Given the description of an element on the screen output the (x, y) to click on. 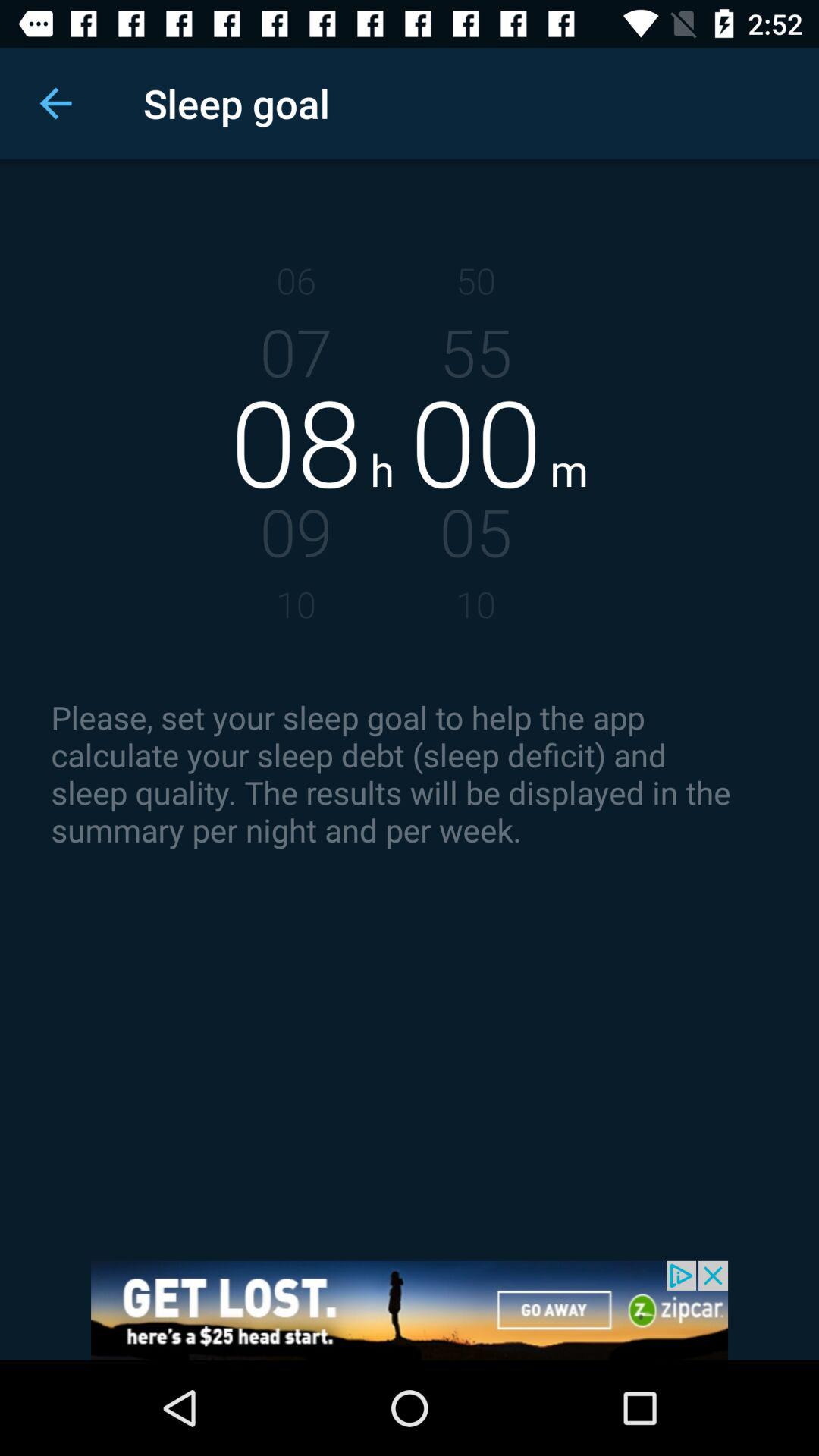
advertisement for zipcar (409, 1310)
